Given the description of an element on the screen output the (x, y) to click on. 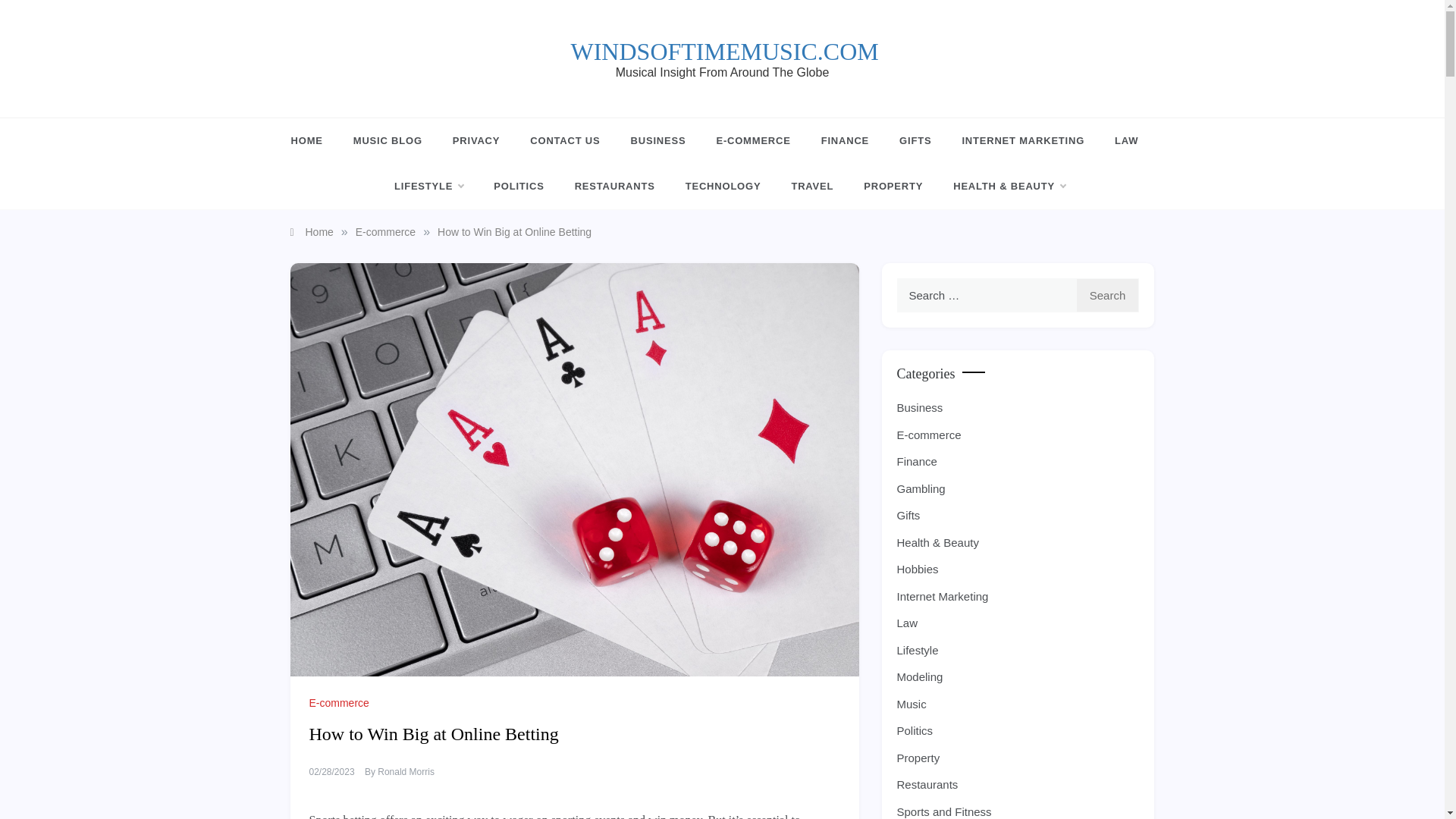
TECHNOLOGY (722, 186)
HOME (314, 140)
CONTACT US (564, 140)
PRIVACY (476, 140)
FINANCE (844, 140)
Search (1107, 295)
POLITICS (519, 186)
E-COMMERCE (752, 140)
Home (311, 232)
MUSIC BLOG (387, 140)
How to Win Big at Online Betting (514, 232)
LAW (1126, 140)
GIFTS (914, 140)
RESTAURANTS (614, 186)
WINDSOFTIMEMUSIC.COM (723, 51)
